Given the description of an element on the screen output the (x, y) to click on. 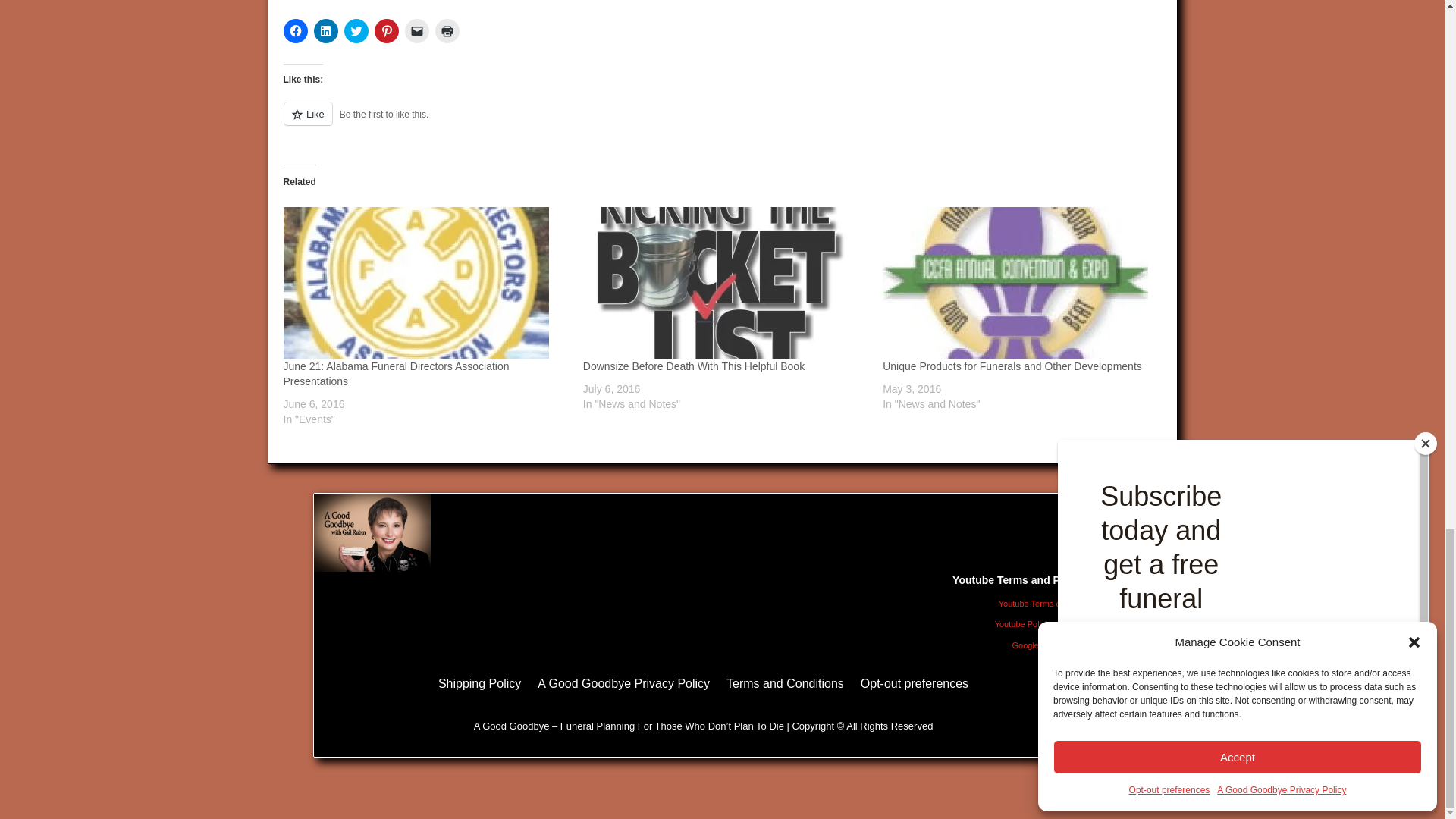
Click to share on Twitter (355, 30)
Click to email a link to a friend (416, 30)
Click to share on Facebook (295, 30)
Click to print (447, 30)
Click to share on LinkedIn (325, 30)
Click to share on Pinterest (386, 30)
